Given the description of an element on the screen output the (x, y) to click on. 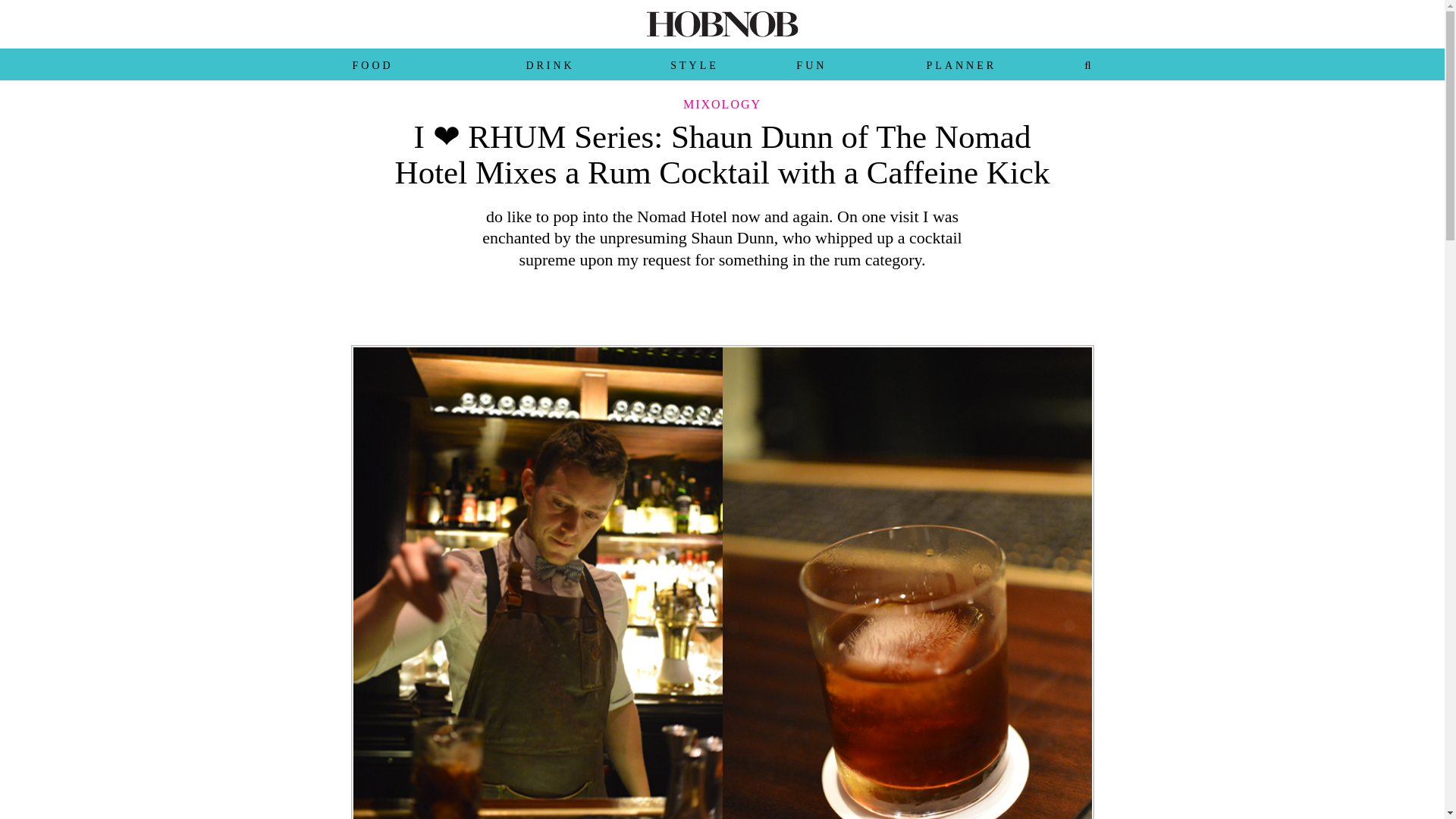
STYLE (694, 65)
PLANNER (961, 65)
FOOD (372, 65)
DRINK (549, 65)
FUN (811, 65)
